Given the description of an element on the screen output the (x, y) to click on. 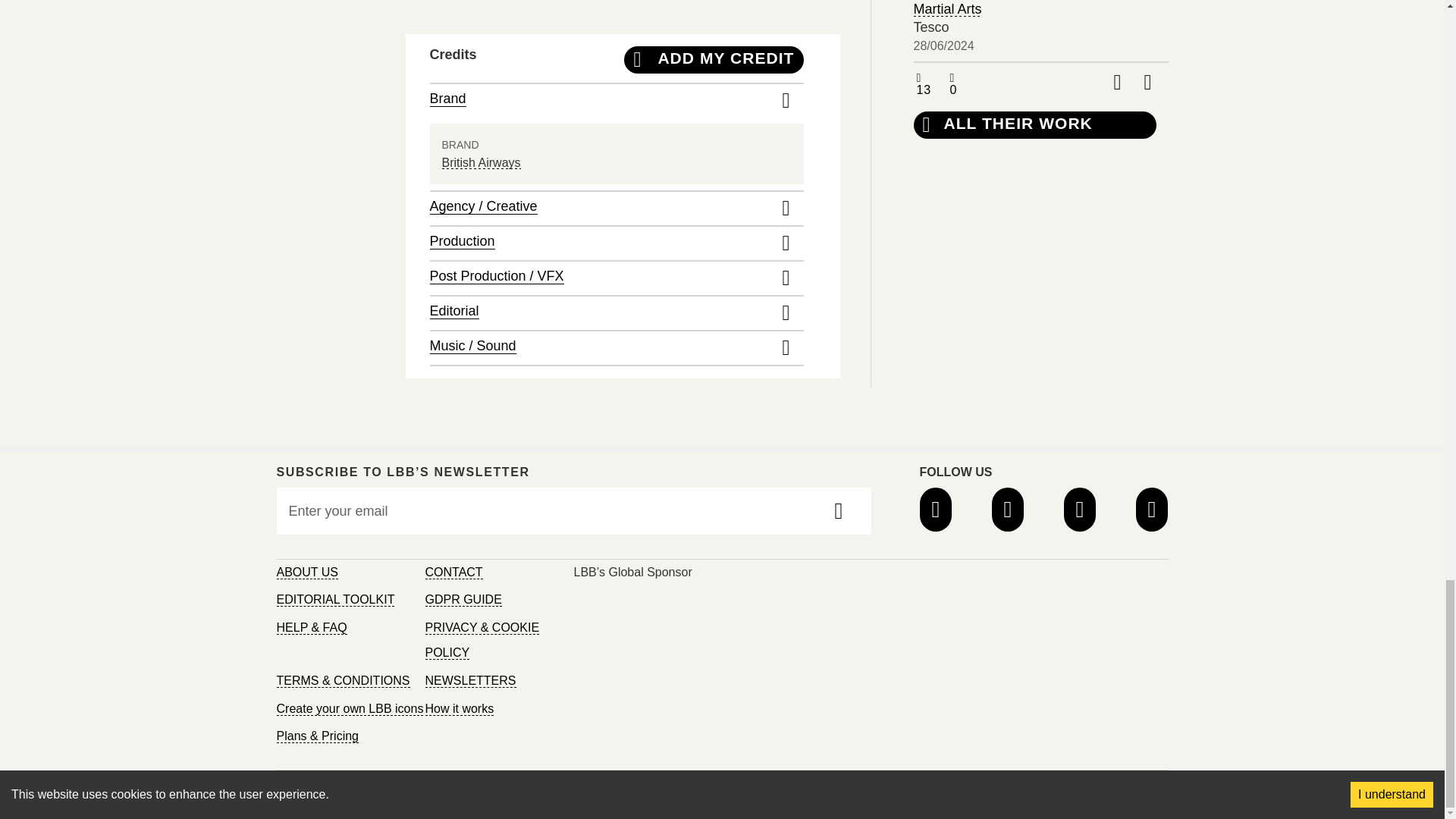
British Airways (480, 162)
ADD MY CREDIT (713, 59)
